Given the description of an element on the screen output the (x, y) to click on. 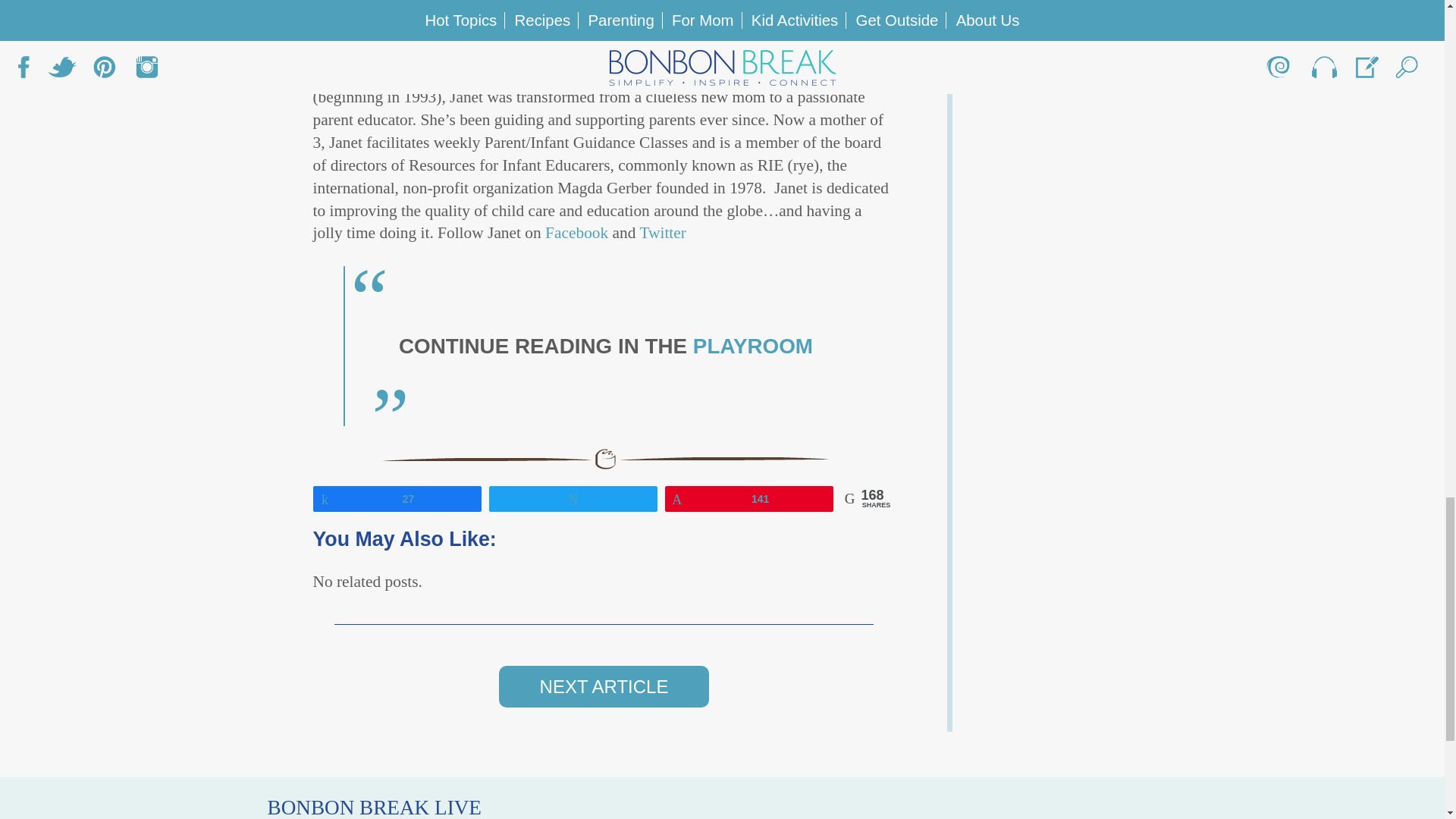
Facebook (578, 232)
Twitter (662, 232)
27 (397, 497)
141 (748, 497)
PLAYROOM (752, 345)
NEXT ARTICLE (604, 686)
divider (603, 458)
